Given the description of an element on the screen output the (x, y) to click on. 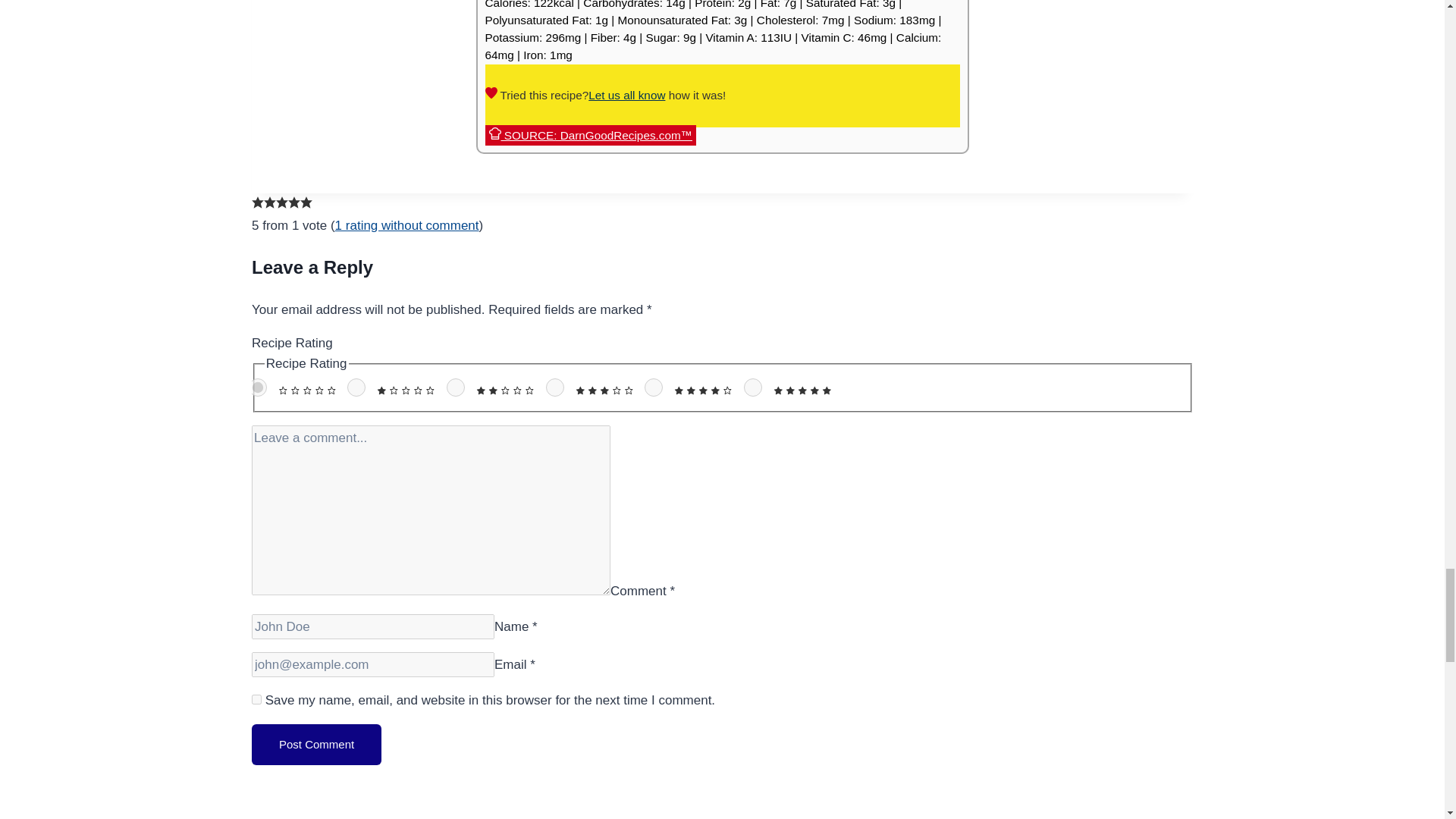
Post Comment (316, 743)
1 (356, 387)
yes (256, 699)
2 (455, 387)
0 (256, 387)
5 (752, 387)
4 (653, 387)
3 (553, 387)
